Given the description of an element on the screen output the (x, y) to click on. 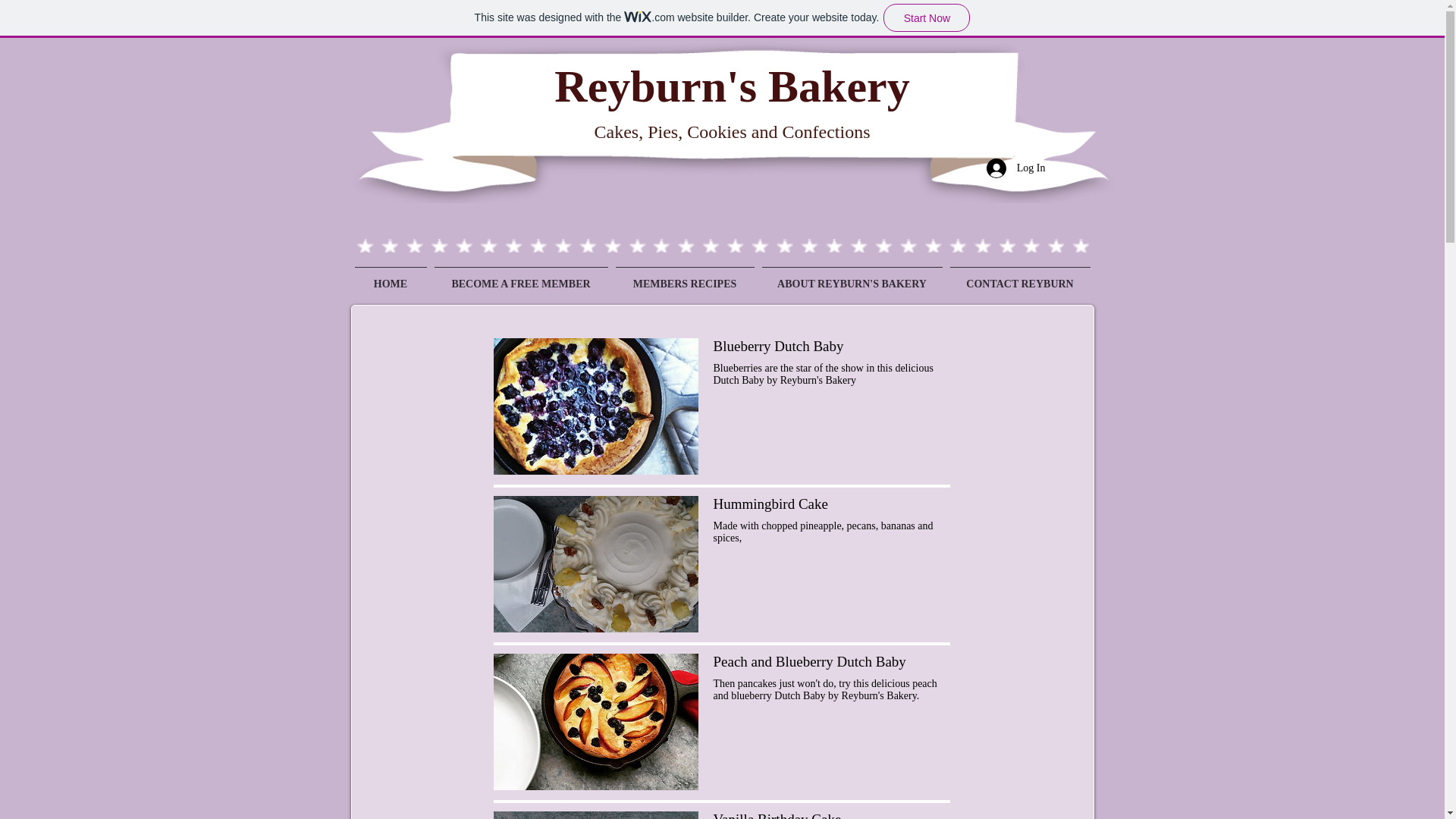
CONTACT REYBURN (1020, 277)
Log In (1016, 167)
ABOUT REYBURN'S BAKERY (852, 277)
MEMBERS RECIPES (684, 277)
peaches, blueberries (595, 721)
BECOME A FREE MEMBER (520, 277)
blueberries (595, 406)
HOME (389, 277)
